Given the description of an element on the screen output the (x, y) to click on. 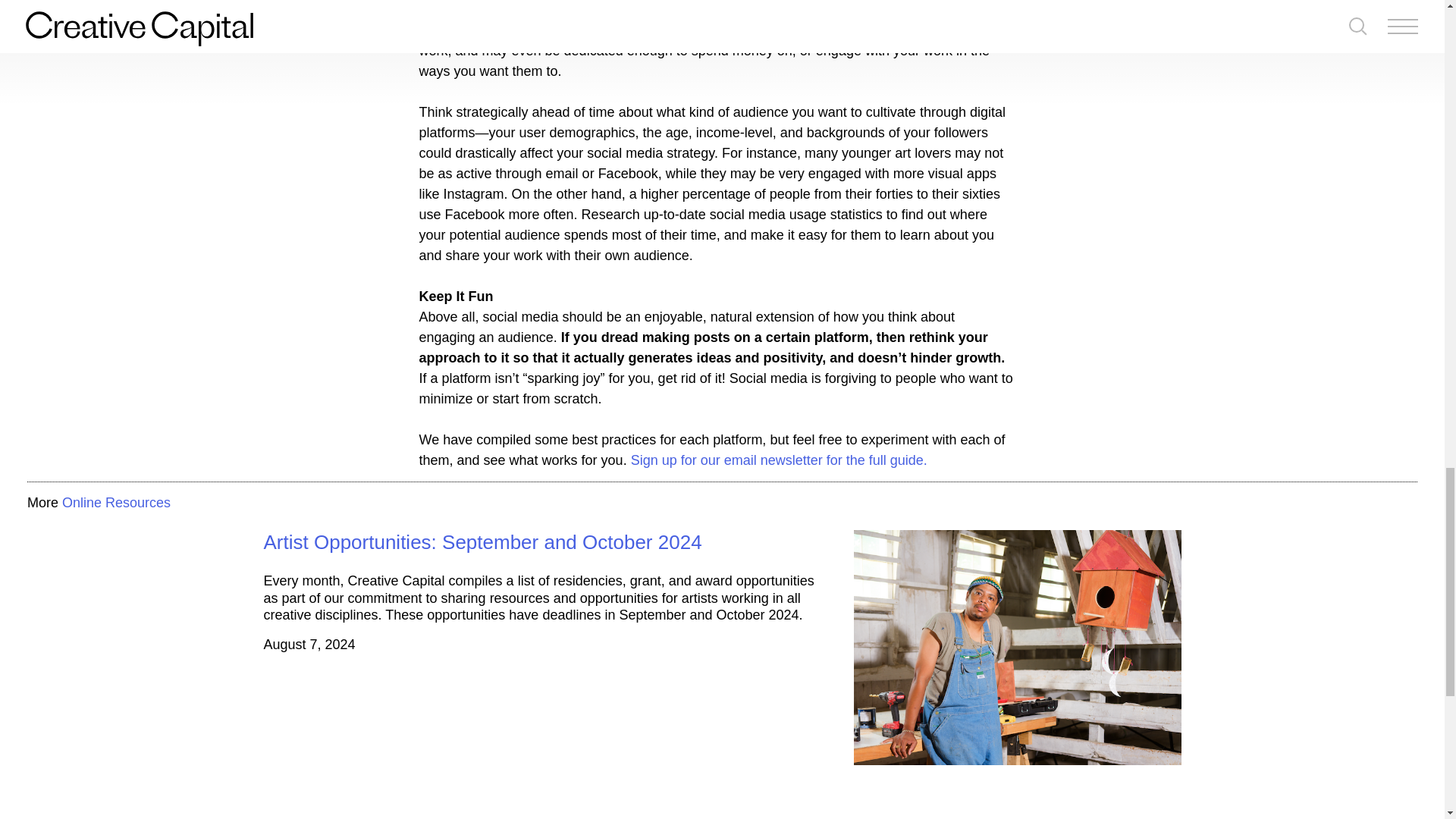
Artist Opportunities: September and October 2024 (482, 541)
Artist Opportunities: September and October 2024 (482, 541)
Online Resources (116, 502)
Sign up for our email newsletter for the full guide. (778, 459)
